Given the description of an element on the screen output the (x, y) to click on. 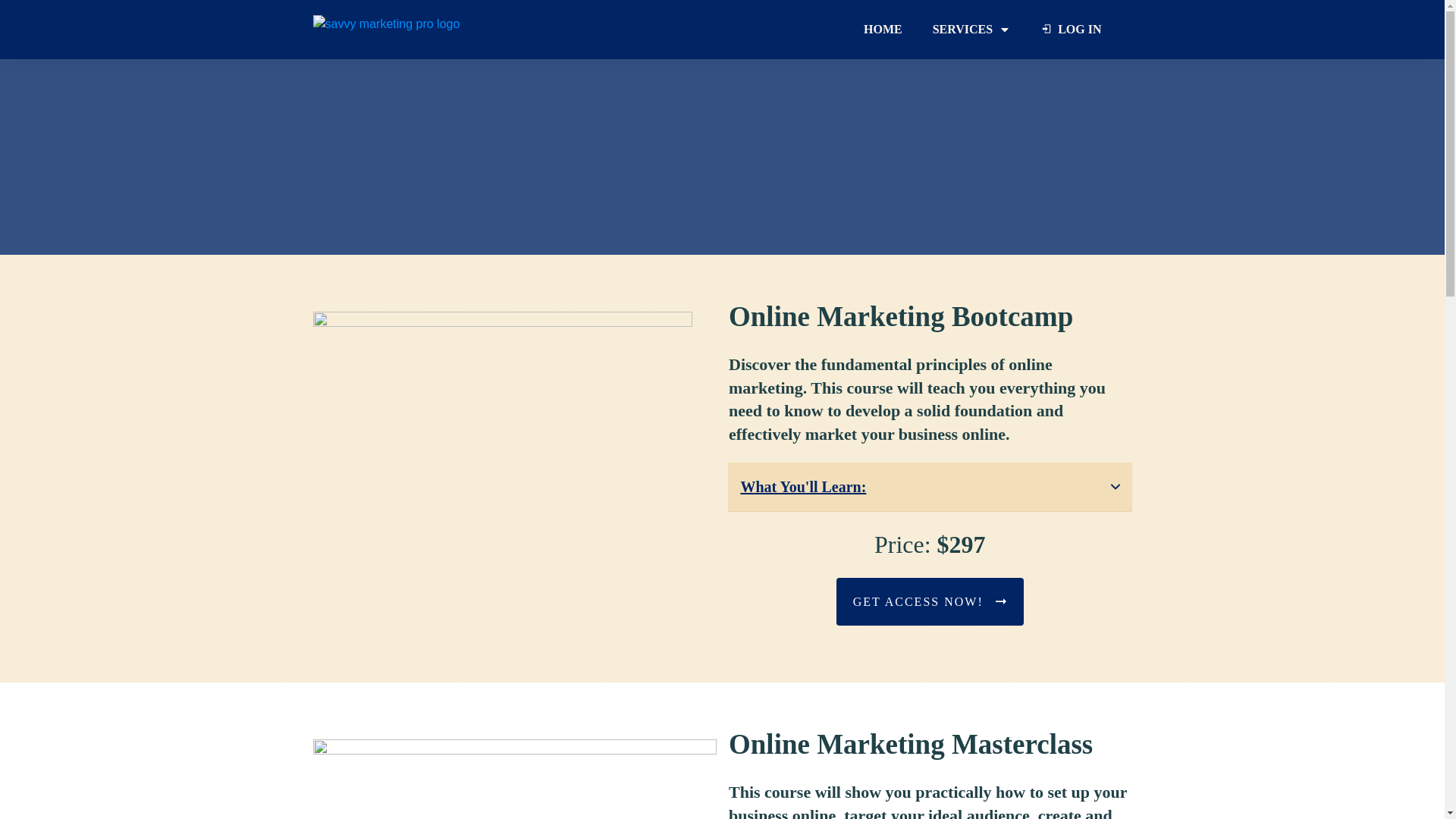
HOME (882, 29)
GET ACCESS NOW! (929, 601)
Bootcamp-image (502, 440)
online-marketing-masterclass-new-package-v2 (514, 779)
SERVICES (971, 29)
LOG IN (1070, 29)
